Given the description of an element on the screen output the (x, y) to click on. 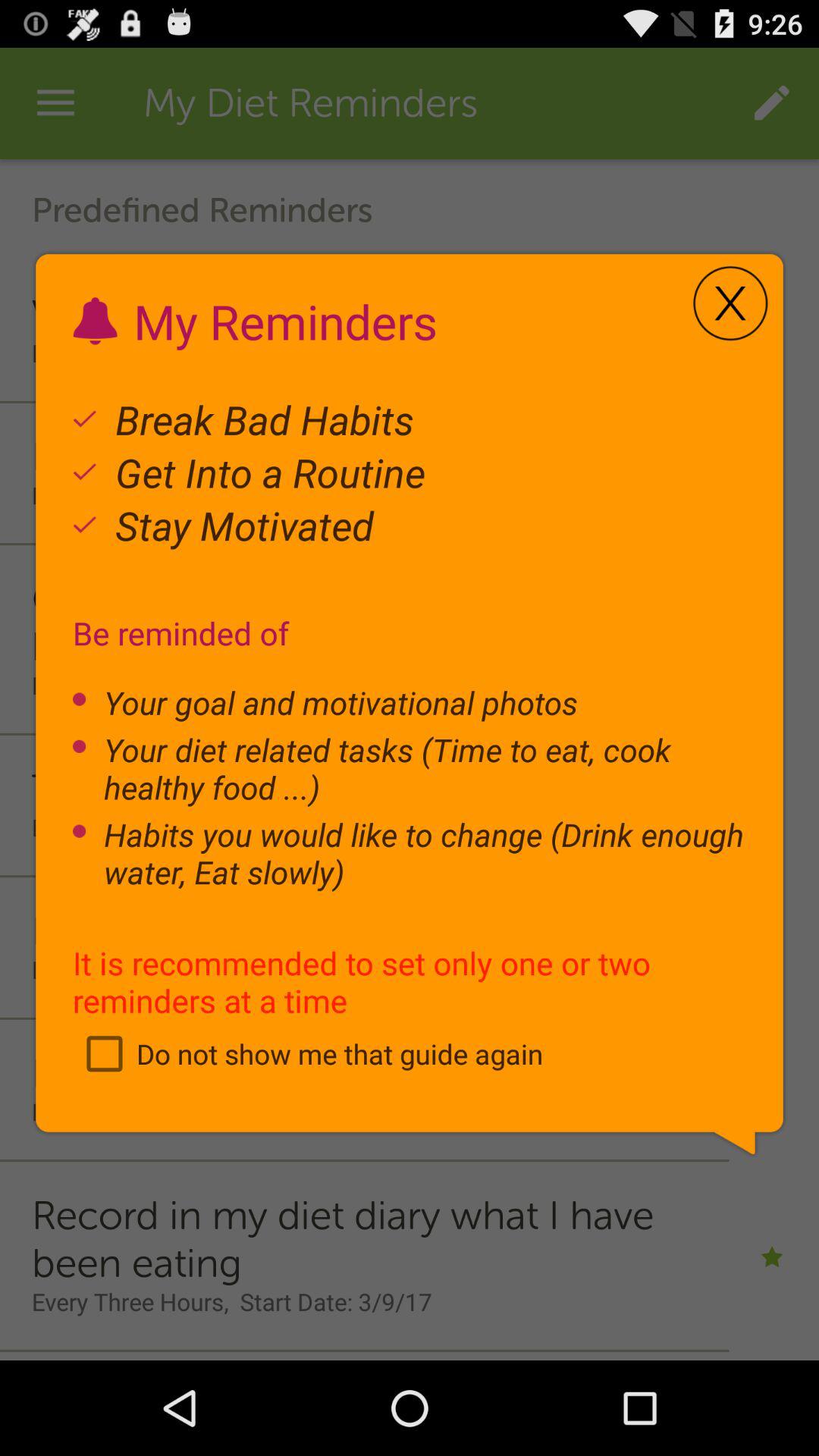
launch the icon below it is recommended icon (307, 1053)
